Given the description of an element on the screen output the (x, y) to click on. 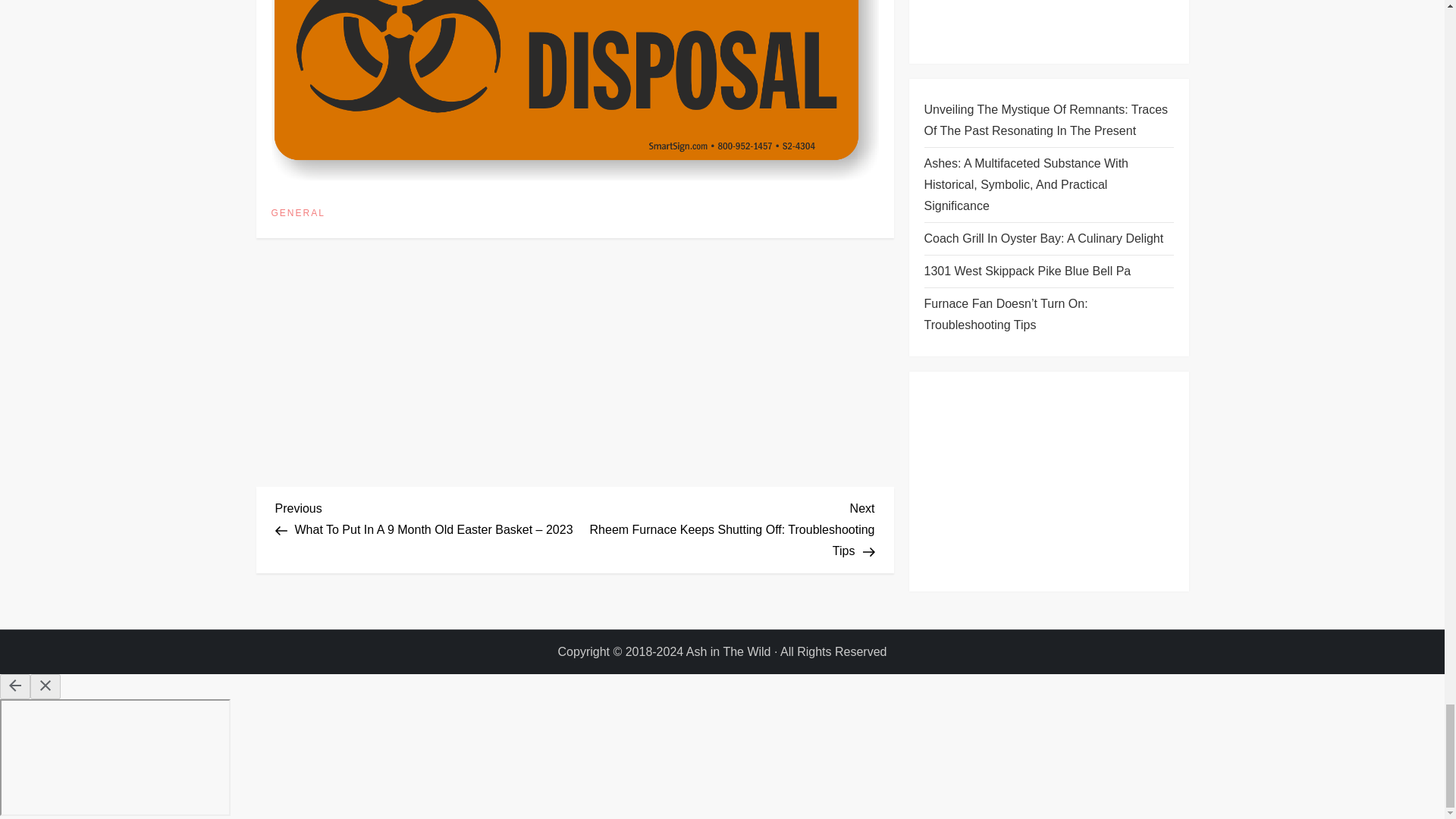
GENERAL (297, 214)
